Given the description of an element on the screen output the (x, y) to click on. 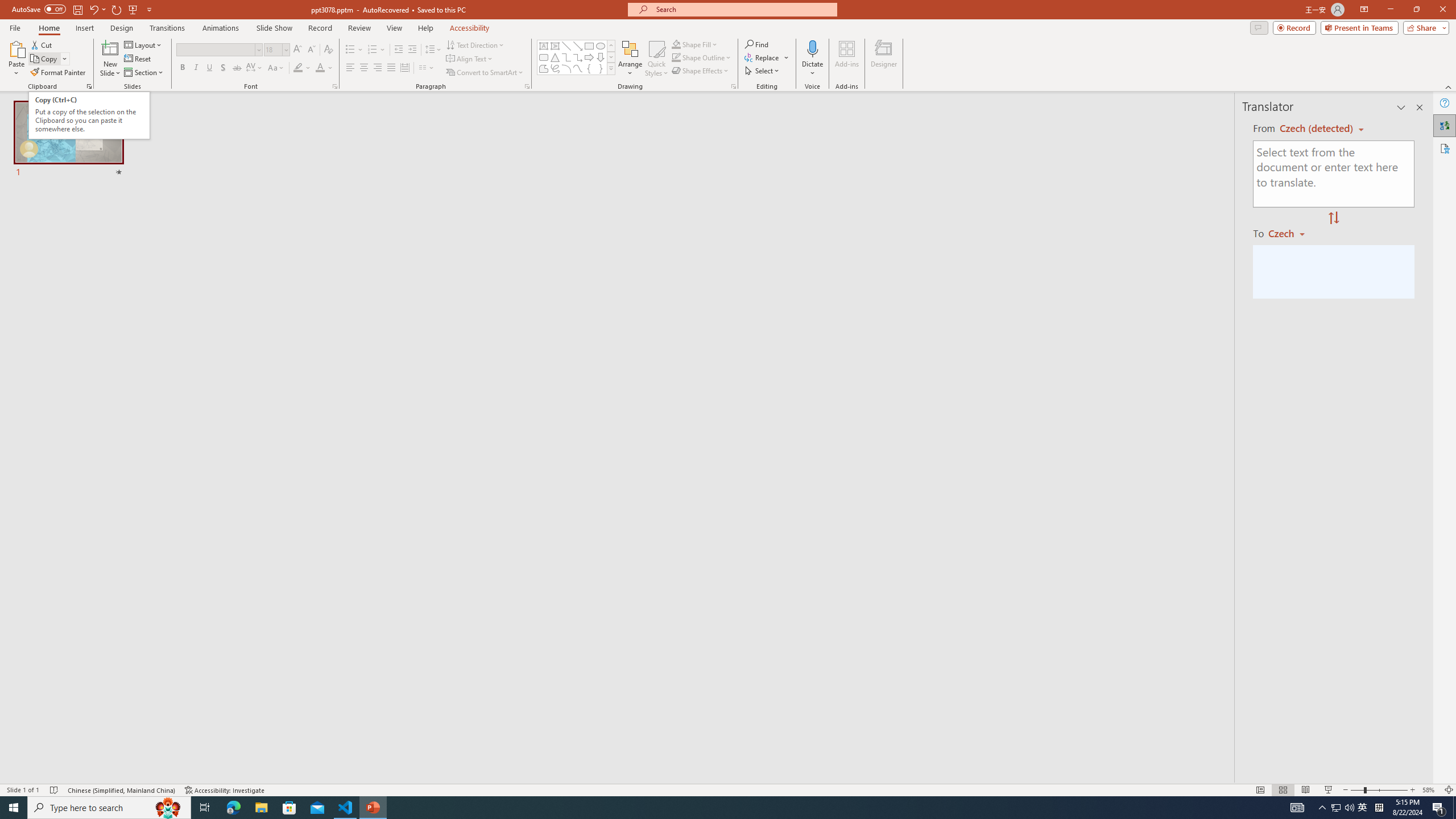
Change Case (276, 67)
Reading View (1305, 790)
Arrange (630, 58)
Quick Styles (656, 58)
Find... (756, 44)
Left Brace (589, 68)
Text Direction (476, 44)
Replace... (762, 56)
Zoom 58% (1430, 790)
Shadow (223, 67)
Home (48, 28)
Text Highlight Color (302, 67)
Help (1444, 102)
